Given the description of an element on the screen output the (x, y) to click on. 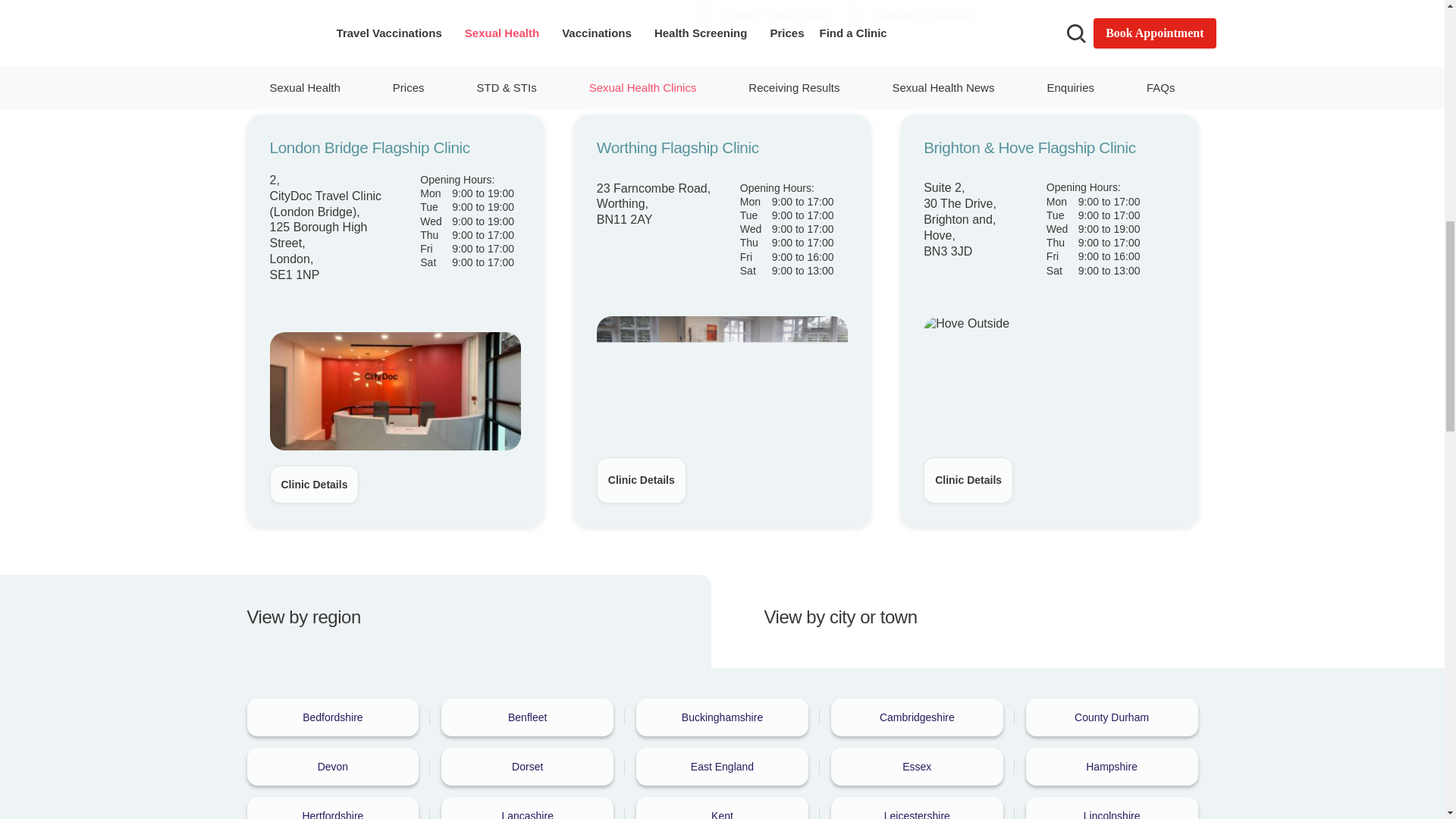
View by region (479, 621)
Cambridgeshire (917, 717)
View by city or town (965, 621)
Buckinghamshire (722, 717)
Clinic Details (314, 484)
Clinic Details (968, 479)
Benfleet (526, 717)
Clinic Details (640, 480)
Bedfordshire (333, 717)
